Given the description of an element on the screen output the (x, y) to click on. 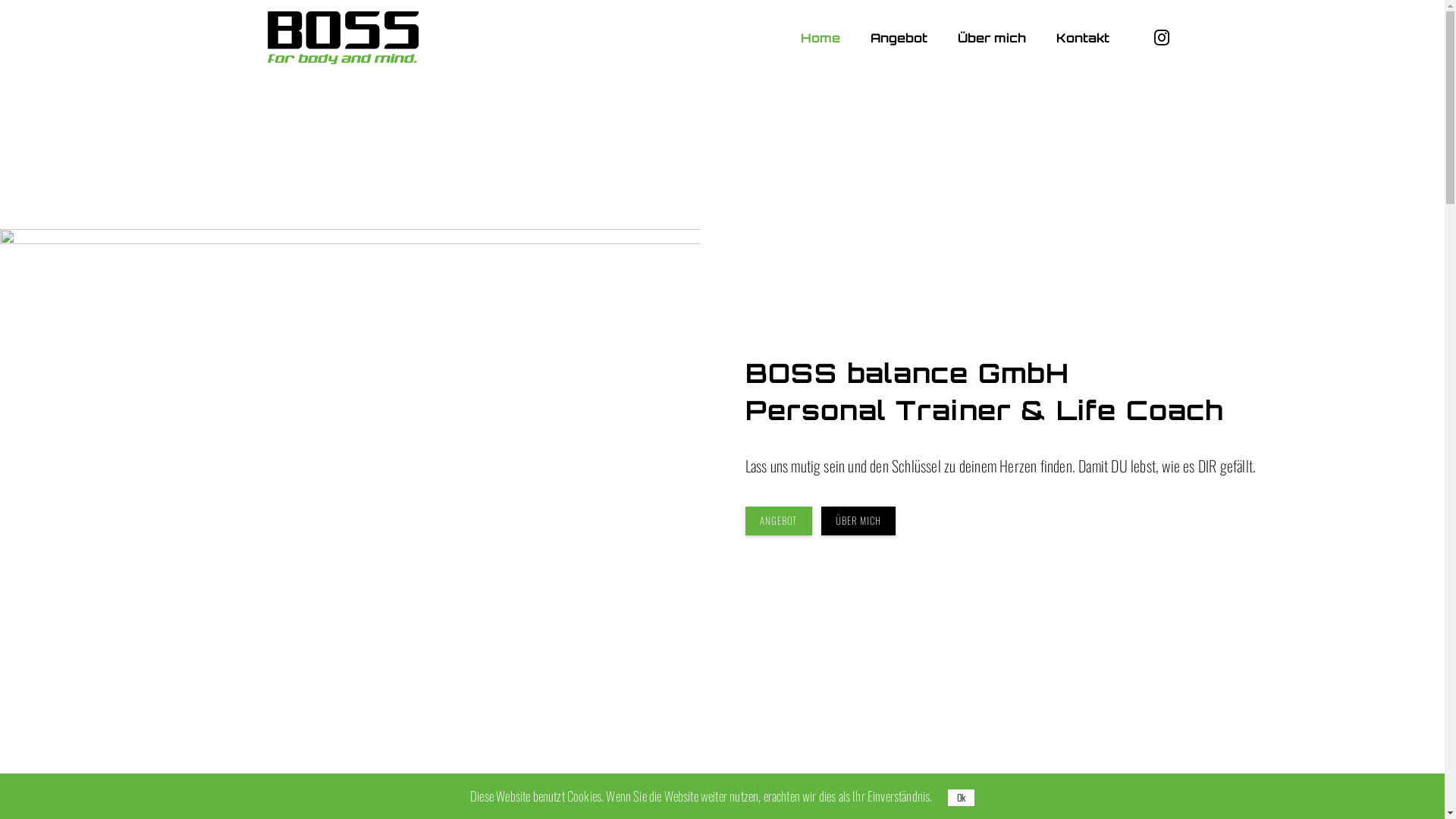
Instagram Element type: hover (1160, 37)
Home Element type: text (820, 37)
Angebot Element type: text (898, 37)
ANGEBOT Element type: text (777, 521)
Kontakt Element type: text (1081, 37)
Ok Element type: text (960, 797)
